Given the description of an element on the screen output the (x, y) to click on. 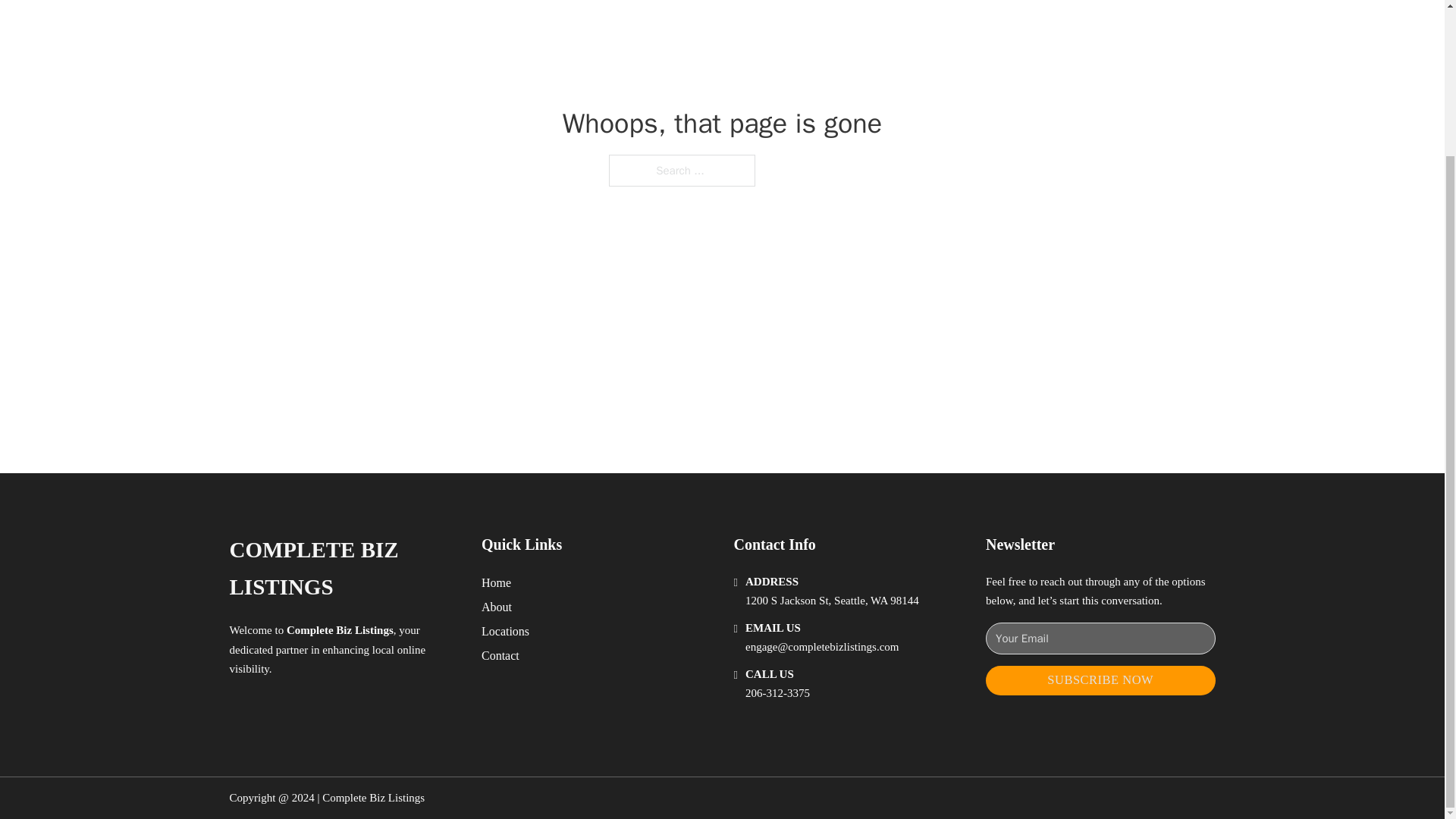
Contact (500, 655)
206-312-3375 (777, 693)
Home (496, 582)
About (496, 607)
SUBSCRIBE NOW (1100, 680)
Locations (505, 630)
COMPLETE BIZ LISTINGS (343, 568)
